Given the description of an element on the screen output the (x, y) to click on. 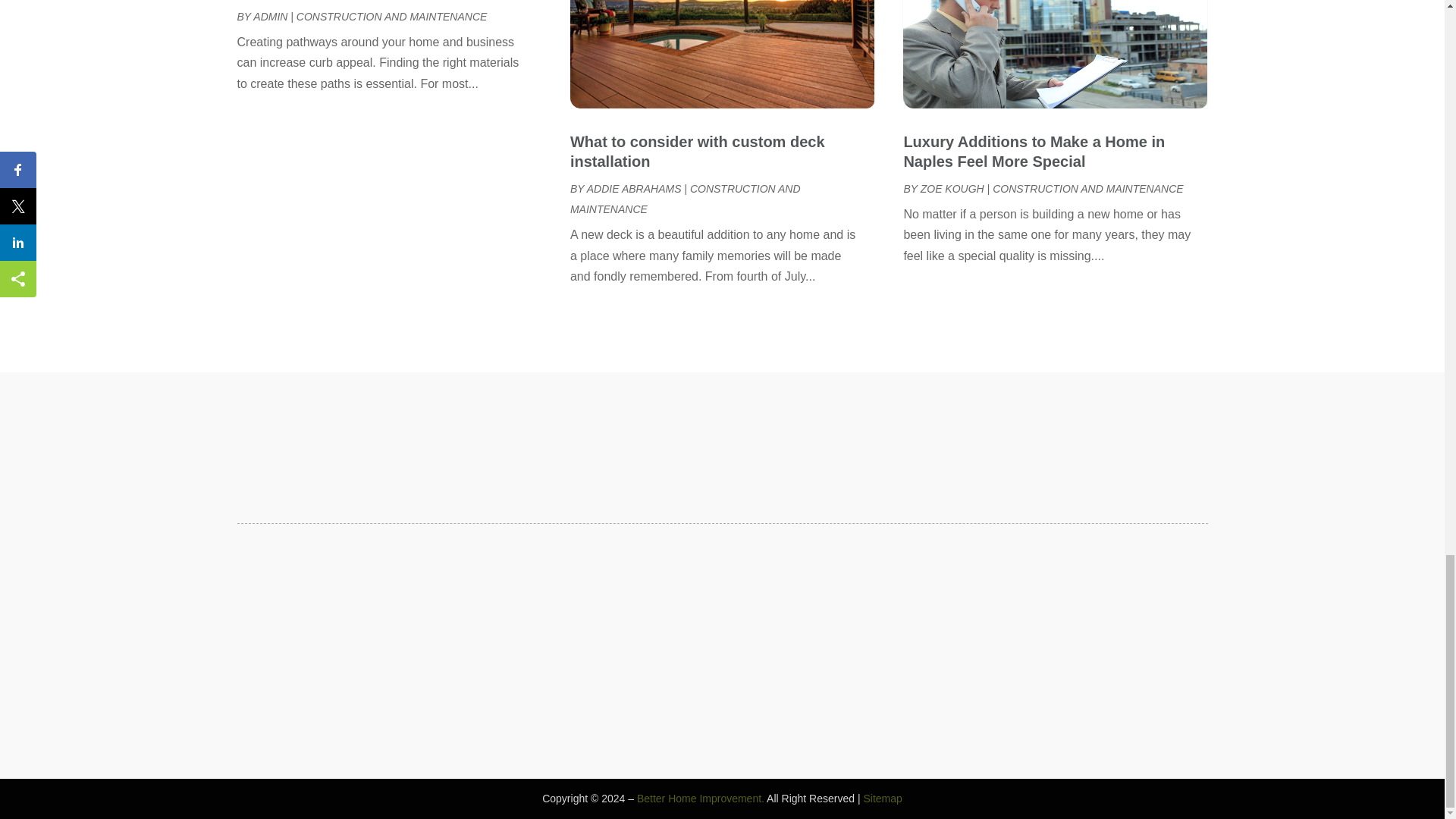
Posts by Zoe Kough (952, 188)
Posts by Addie Abrahams (633, 188)
Posts by admin (269, 16)
